Given the description of an element on the screen output the (x, y) to click on. 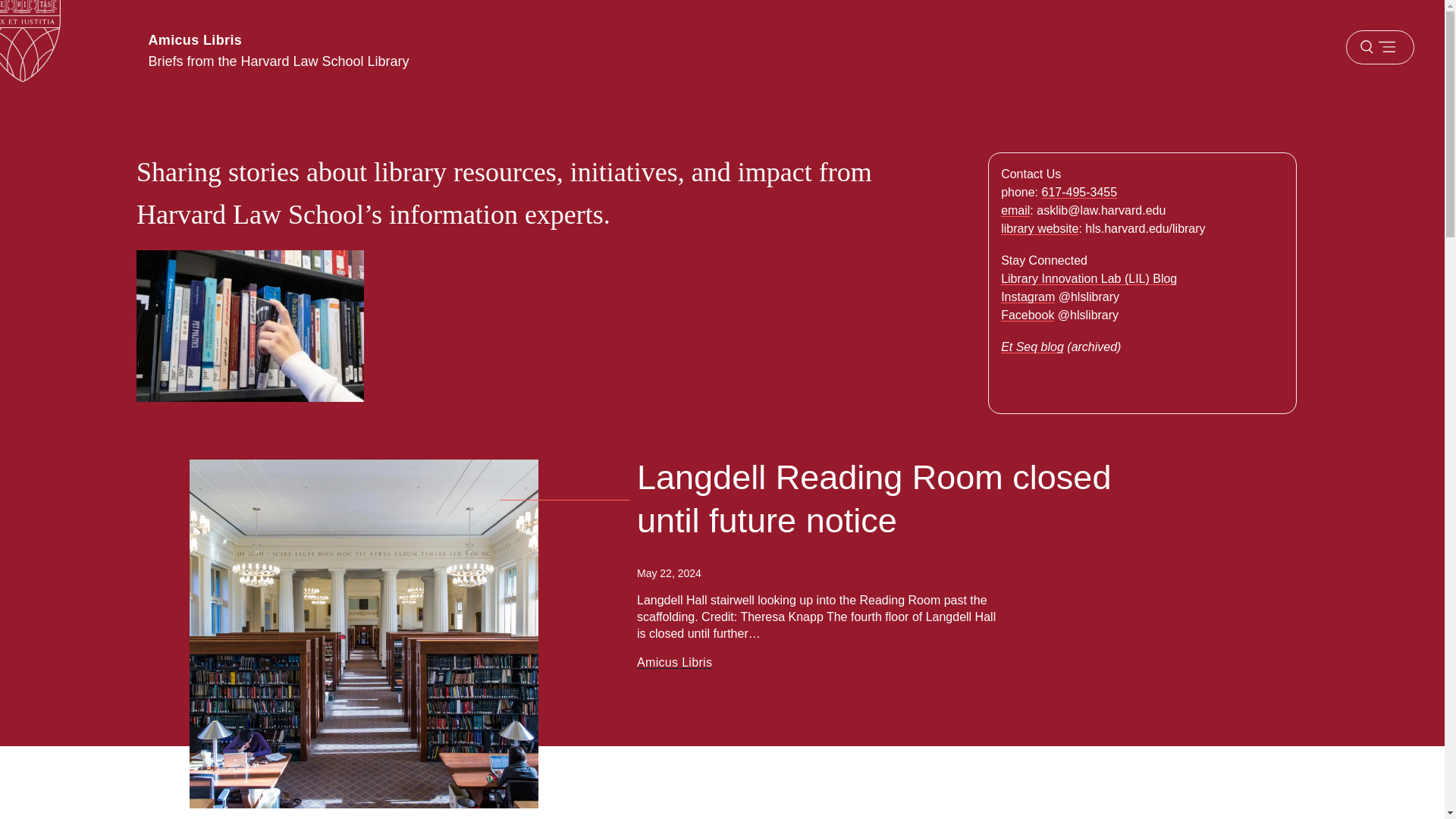
Open menu (1379, 47)
